Given the description of an element on the screen output the (x, y) to click on. 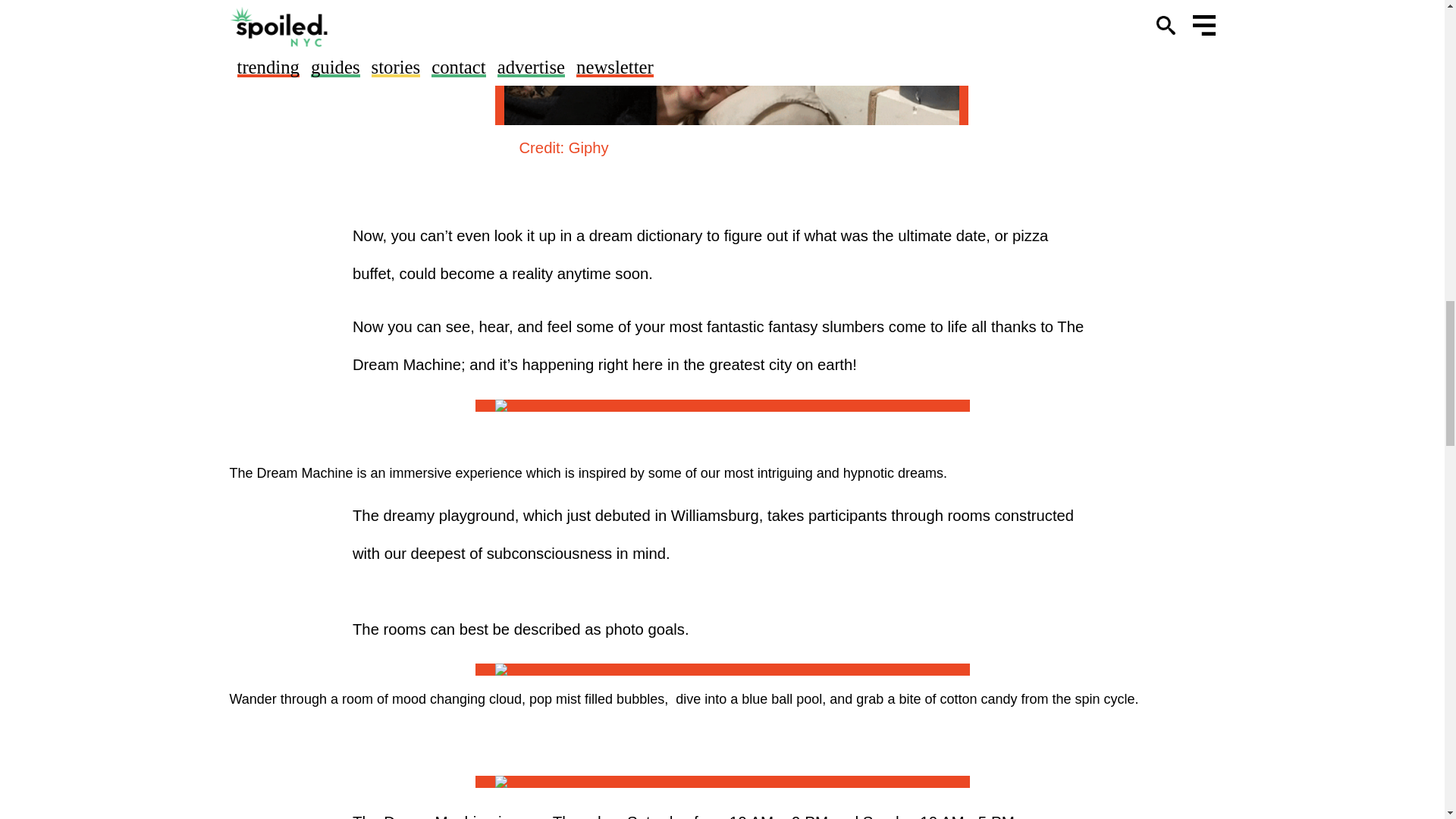
Credit: Giphy (563, 147)
